Given the description of an element on the screen output the (x, y) to click on. 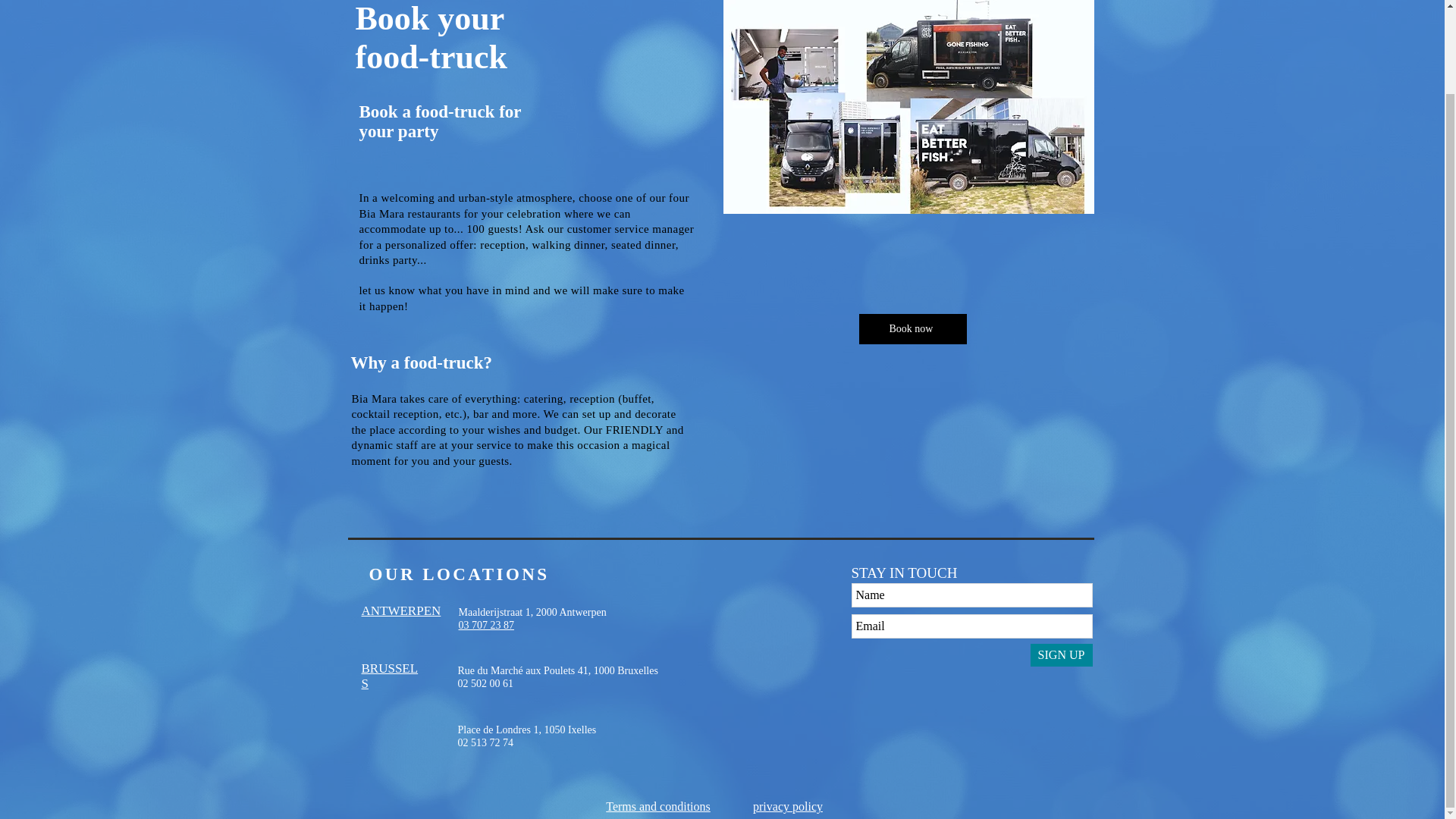
ANTWERPEN (401, 610)
Terms and conditions (657, 806)
SIGN UP (1060, 654)
Book now (912, 328)
privacy policy (527, 735)
03 707 23 87 (787, 806)
BRUSSELS (485, 624)
